Given the description of an element on the screen output the (x, y) to click on. 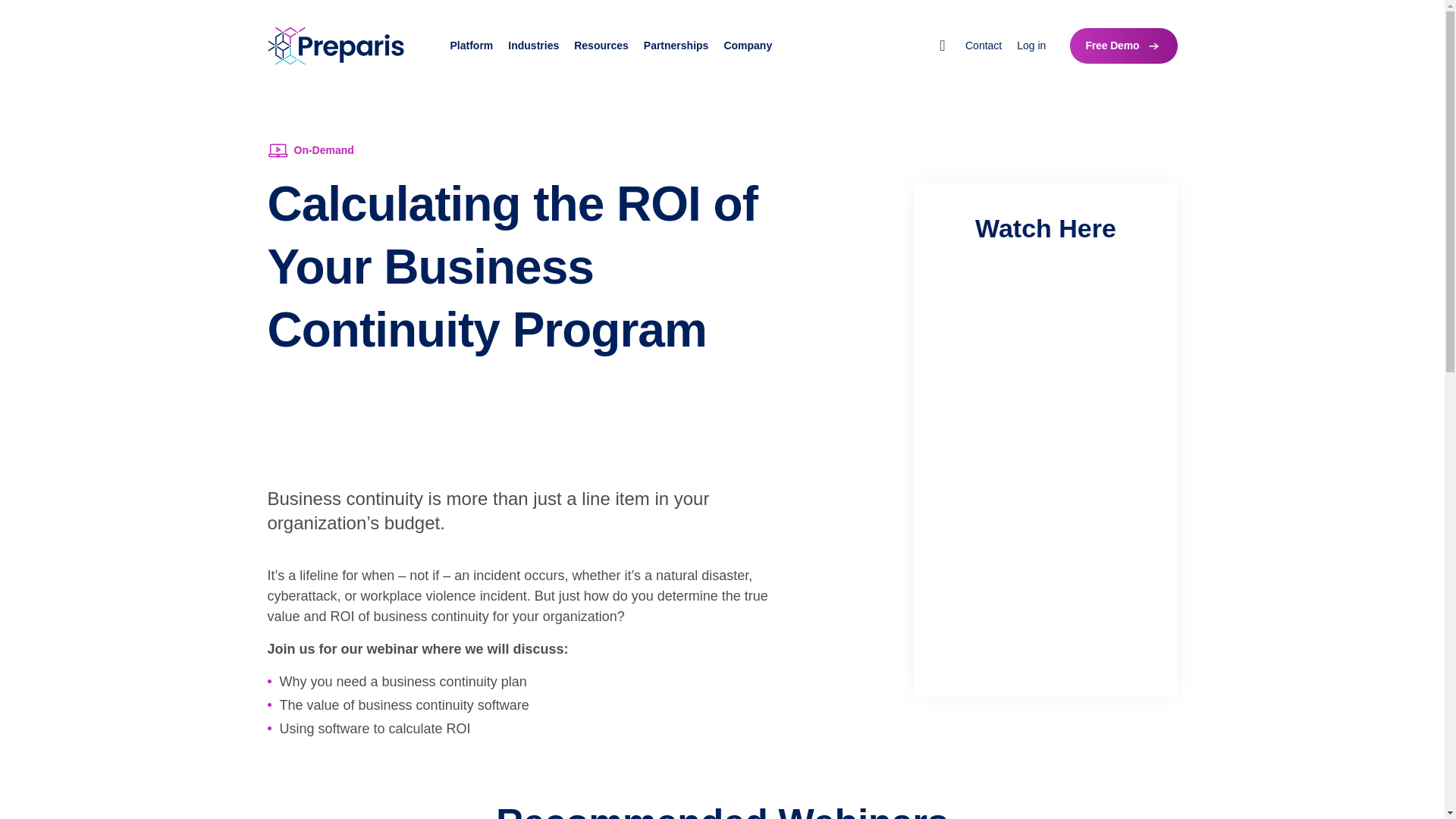
Partnerships (676, 45)
Resources (600, 45)
Free Demo (1123, 45)
Contact (983, 45)
Company (747, 45)
Industries (533, 45)
Platform (471, 45)
